Given the description of an element on the screen output the (x, y) to click on. 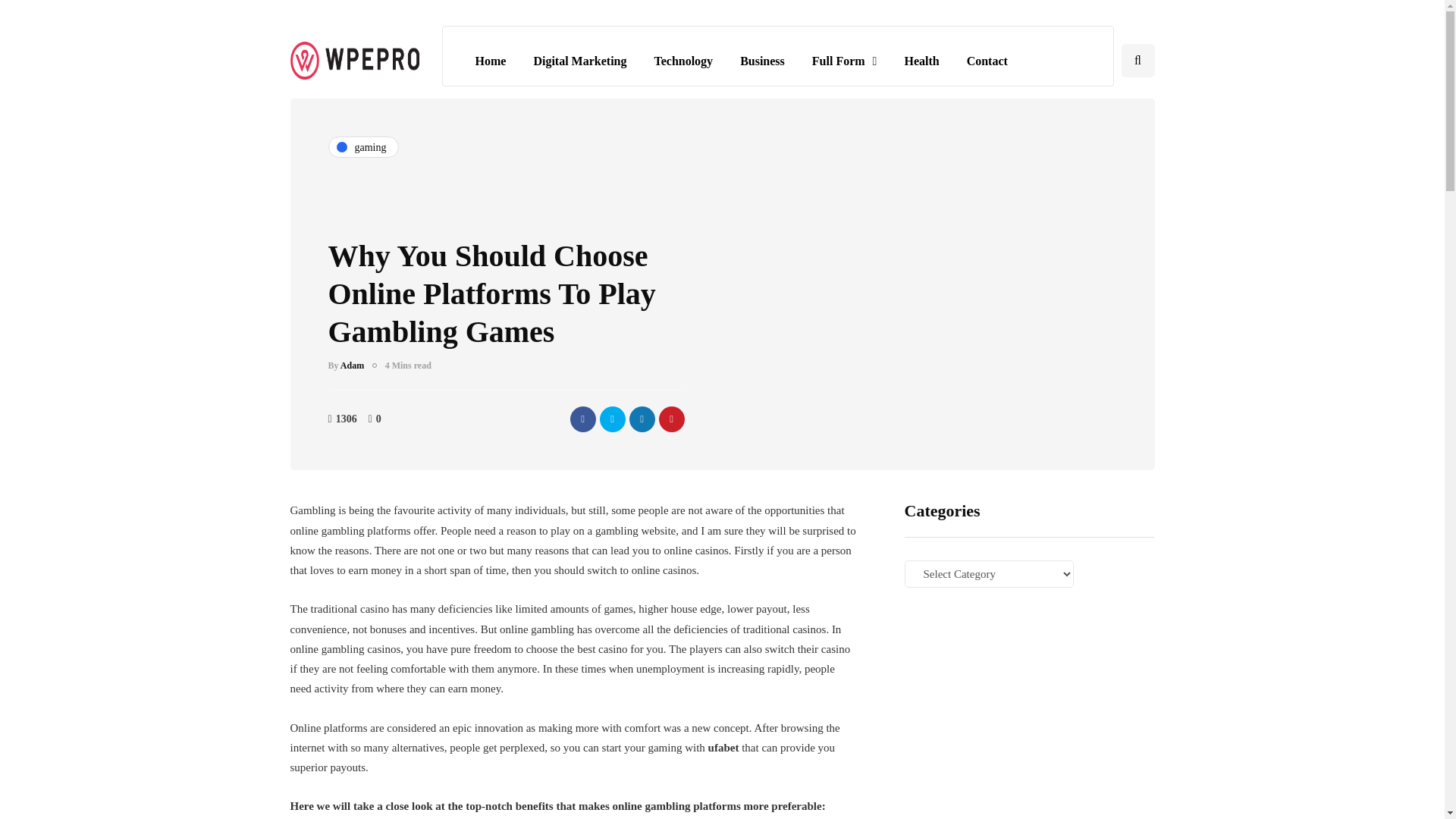
Business (761, 60)
Pin this (671, 419)
Share with Facebook (582, 419)
Home (490, 60)
Technology (683, 60)
gaming (362, 147)
Full Form (844, 60)
Contact (987, 60)
Posts by Adam (352, 365)
Digital Marketing (579, 60)
Share with LinkedIn (641, 419)
Health (920, 60)
Tweet this (611, 419)
Adam (352, 365)
